Given the description of an element on the screen output the (x, y) to click on. 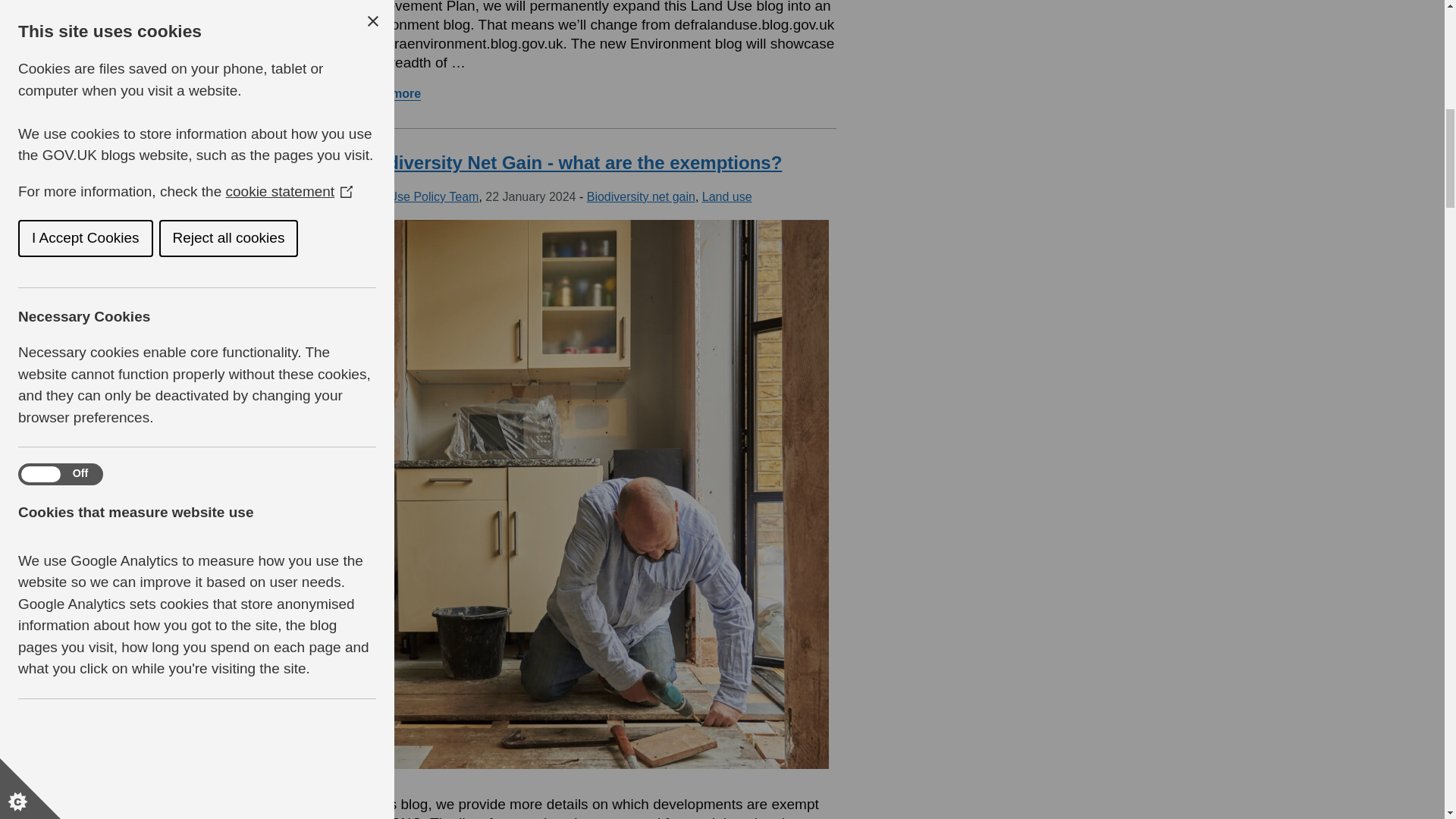
Biodiversity net gain (640, 196)
Land use (726, 196)
Land Use Policy Team (418, 196)
Biodiversity Net Gain - what are the exemptions? (389, 92)
Posts by Land Use Policy Team (569, 162)
